Given the description of an element on the screen output the (x, y) to click on. 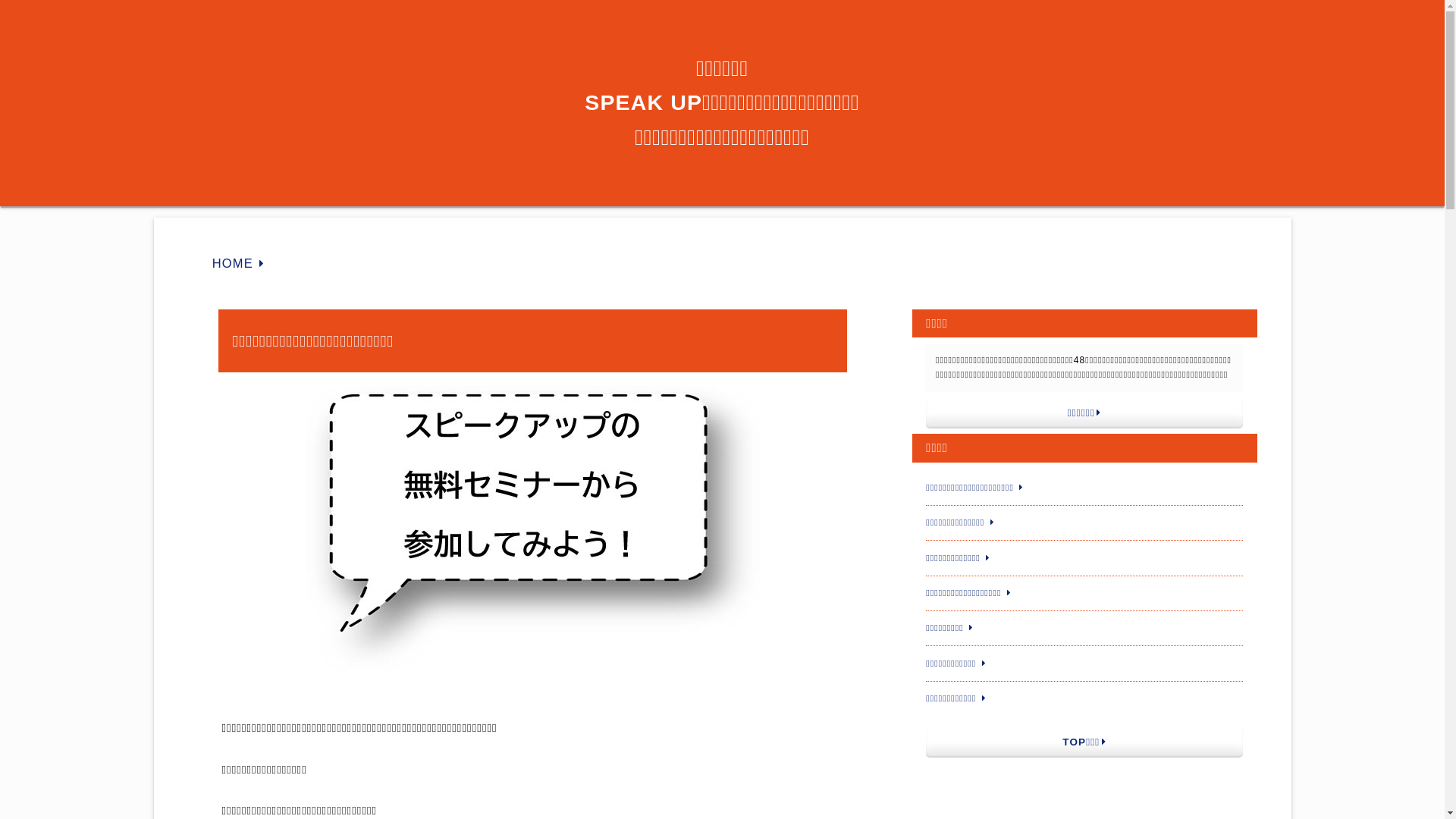
HOME Element type: text (234, 262)
